Given the description of an element on the screen output the (x, y) to click on. 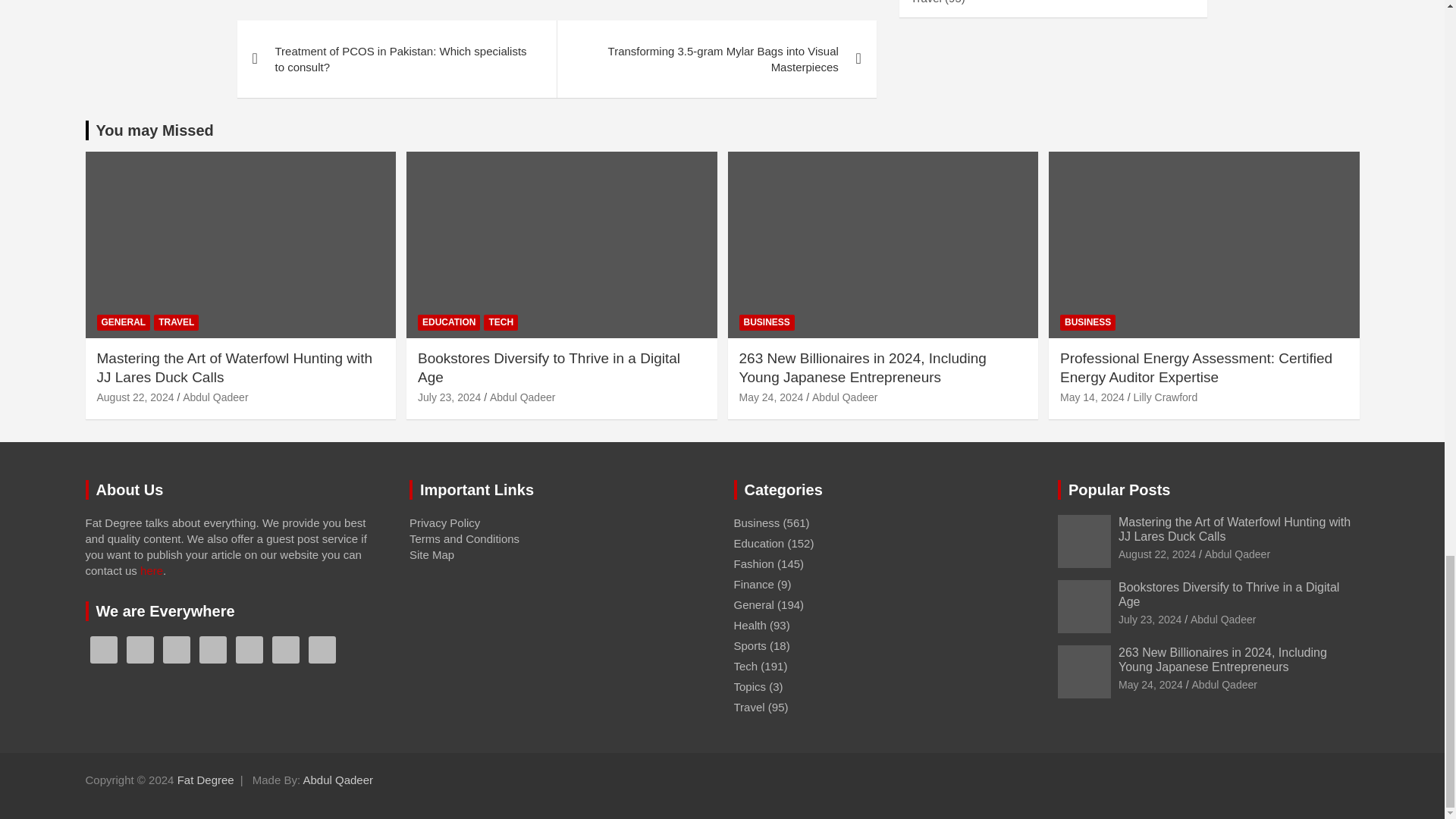
Transforming 3.5-gram Mylar Bags into Visual Masterpieces (716, 58)
Bookstores Diversify to Thrive in a Digital Age (448, 397)
Treatment of PCOS in Pakistan: Which specialists to consult? (395, 58)
